Given the description of an element on the screen output the (x, y) to click on. 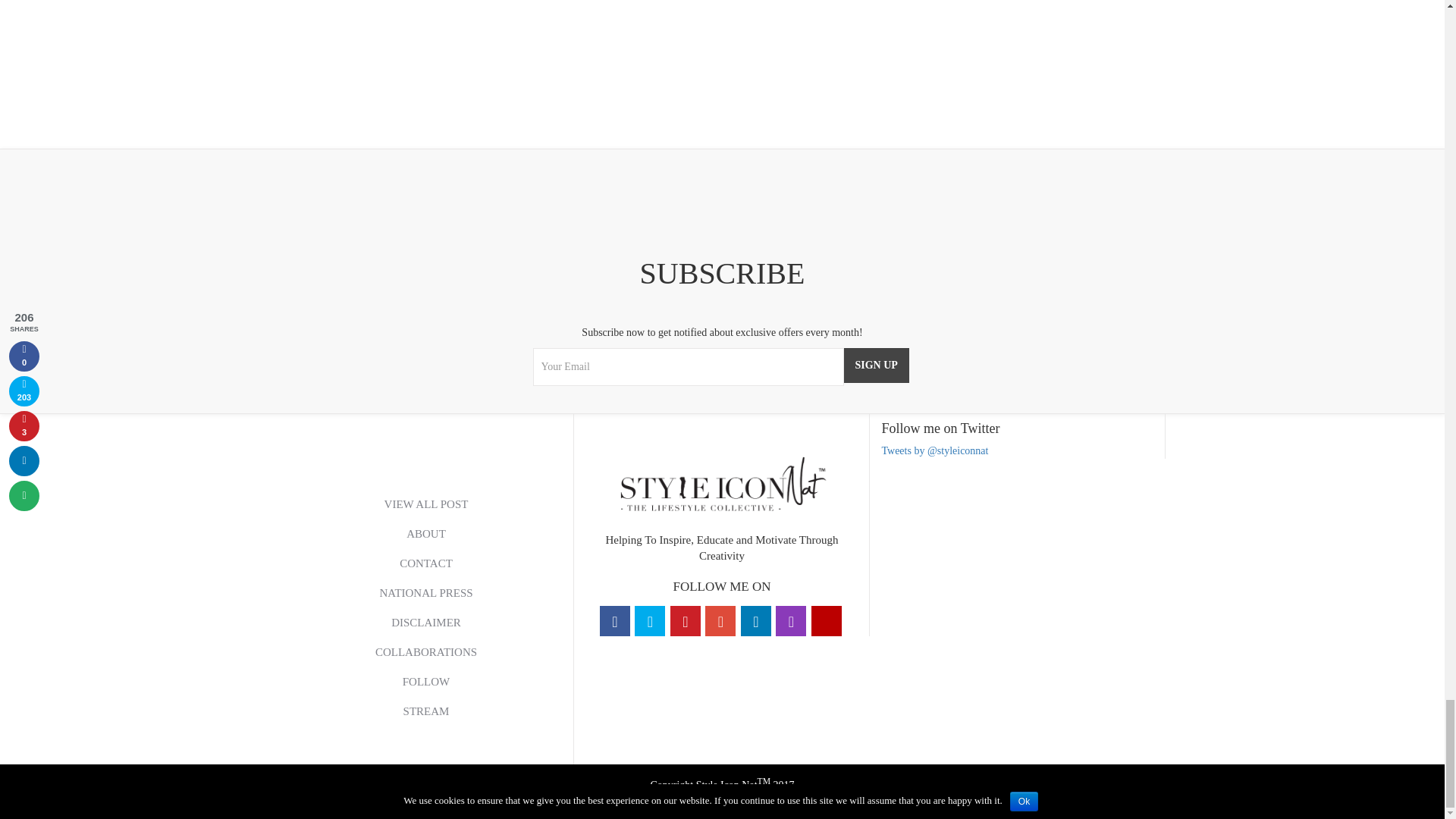
SIGN UP (875, 365)
